Given the description of an element on the screen output the (x, y) to click on. 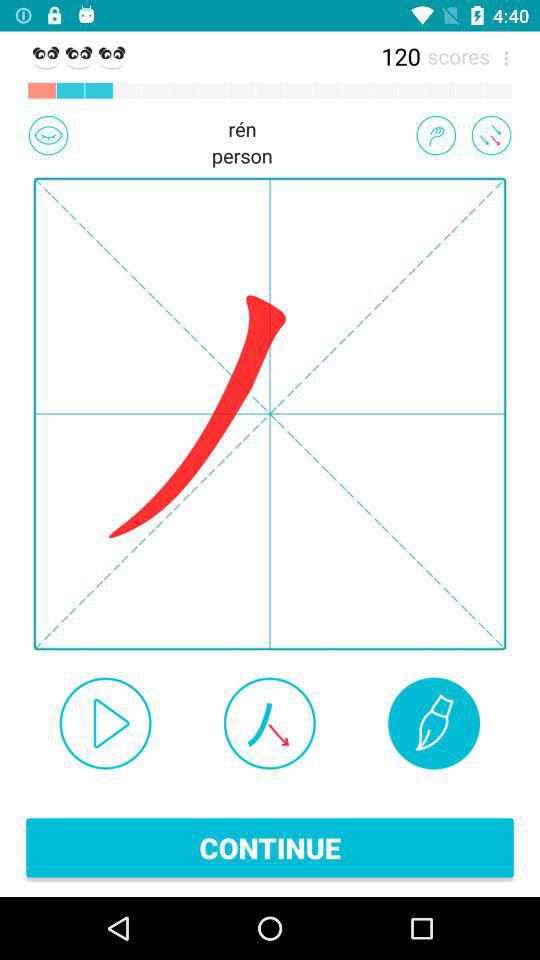
select item next to the person icon (436, 135)
